Given the description of an element on the screen output the (x, y) to click on. 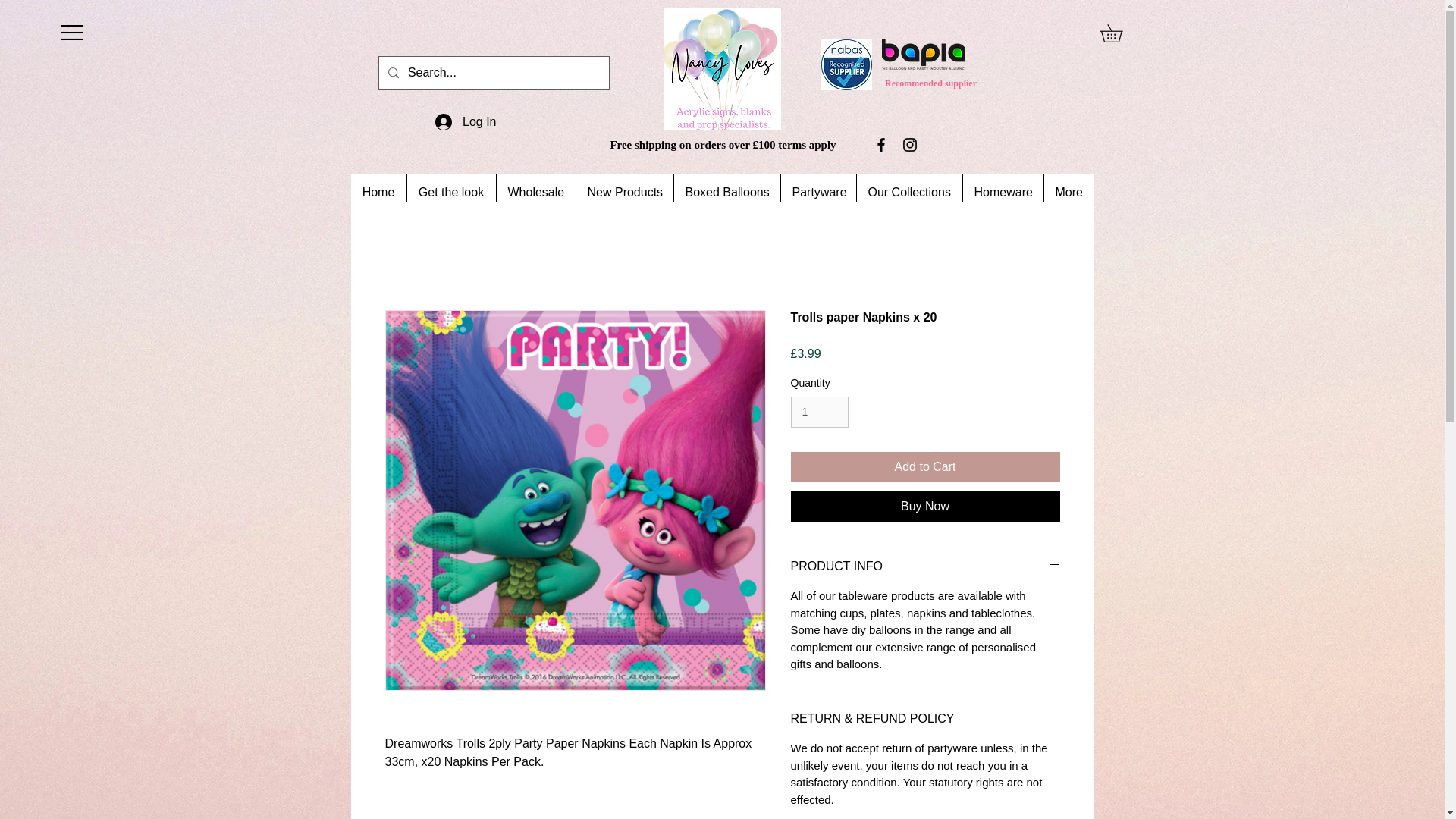
Log In (465, 121)
Wholesale (535, 192)
Get the look (451, 192)
Add to Cart (924, 467)
New Products (623, 192)
Partyware (817, 192)
Home (378, 192)
Homeware (1001, 192)
1 (818, 411)
Boxed Balloons (726, 192)
Our Collections (908, 192)
